Given the description of an element on the screen output the (x, y) to click on. 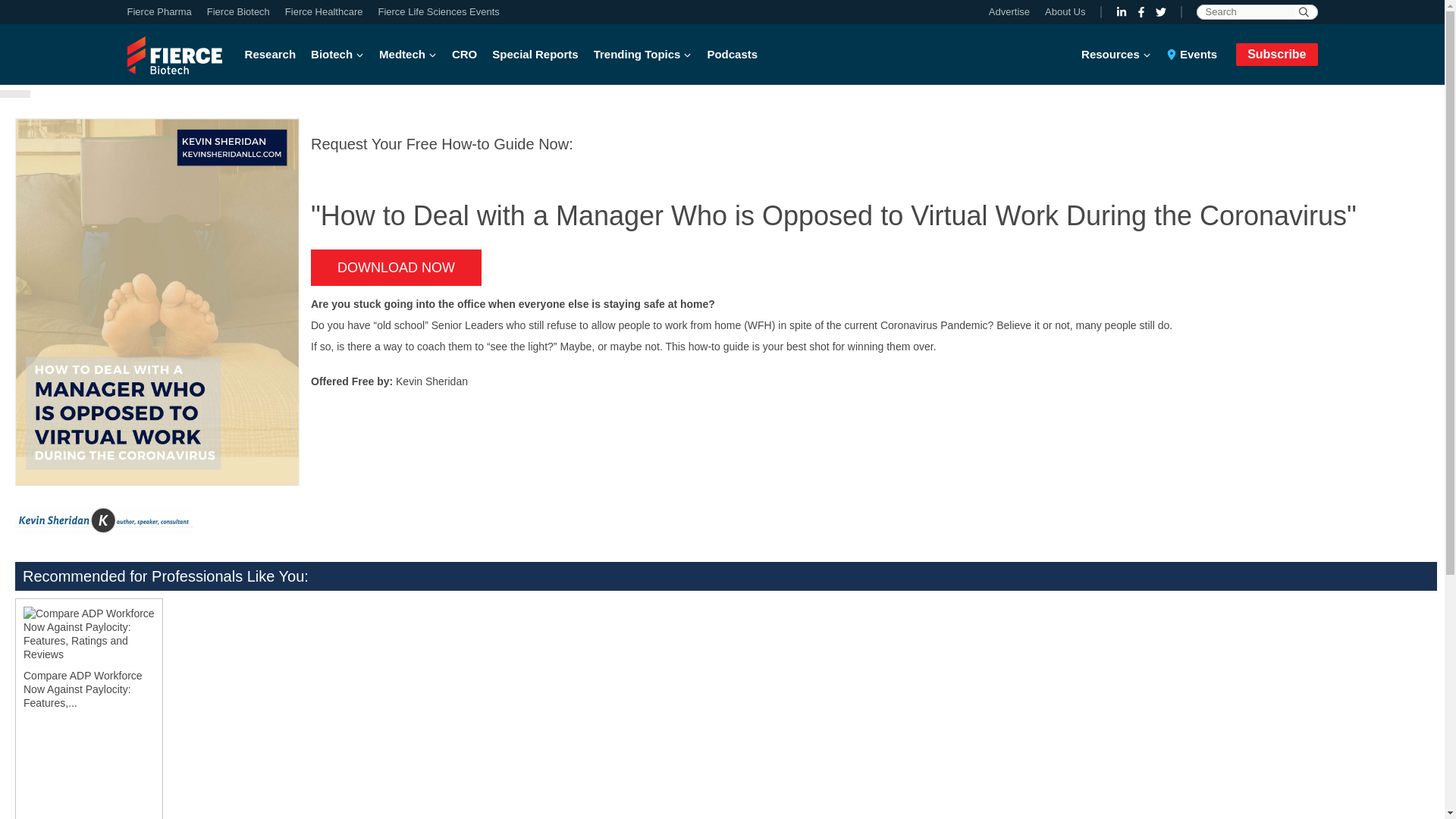
Resources (1119, 54)
Research (274, 54)
Life Sciences Events (434, 12)
Biotech (336, 54)
